Given the description of an element on the screen output the (x, y) to click on. 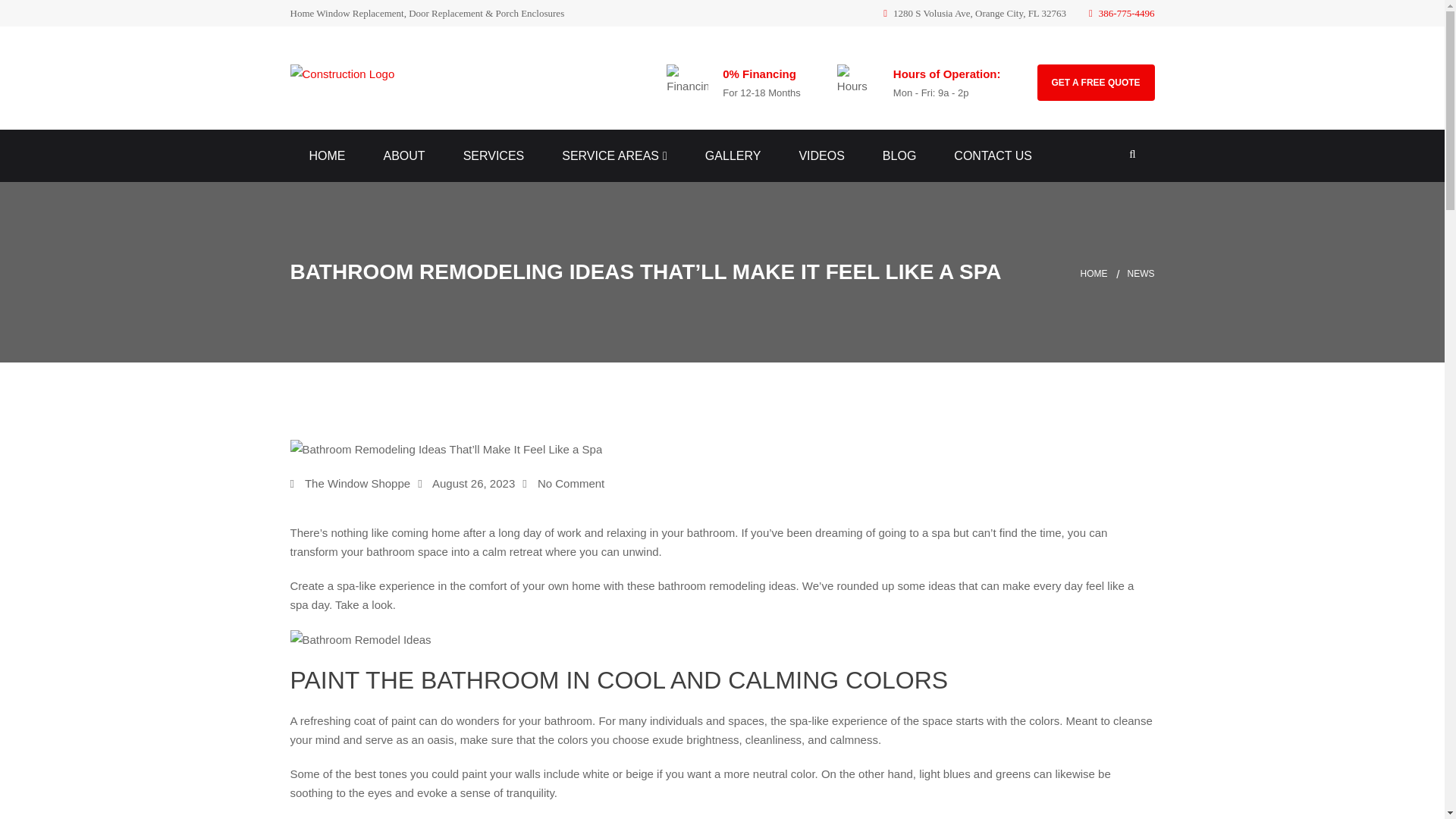
ABOUT (404, 155)
SERVICE AREAS (614, 155)
CONTACT US (992, 155)
386-775-4496 (1121, 12)
GALLERY (732, 155)
HOME (327, 155)
SERVICES (493, 155)
HOME (1103, 273)
NEWS (1140, 273)
VIDEOS (820, 155)
GET A FREE QUOTE (1095, 82)
BLOG (898, 155)
